Given the description of an element on the screen output the (x, y) to click on. 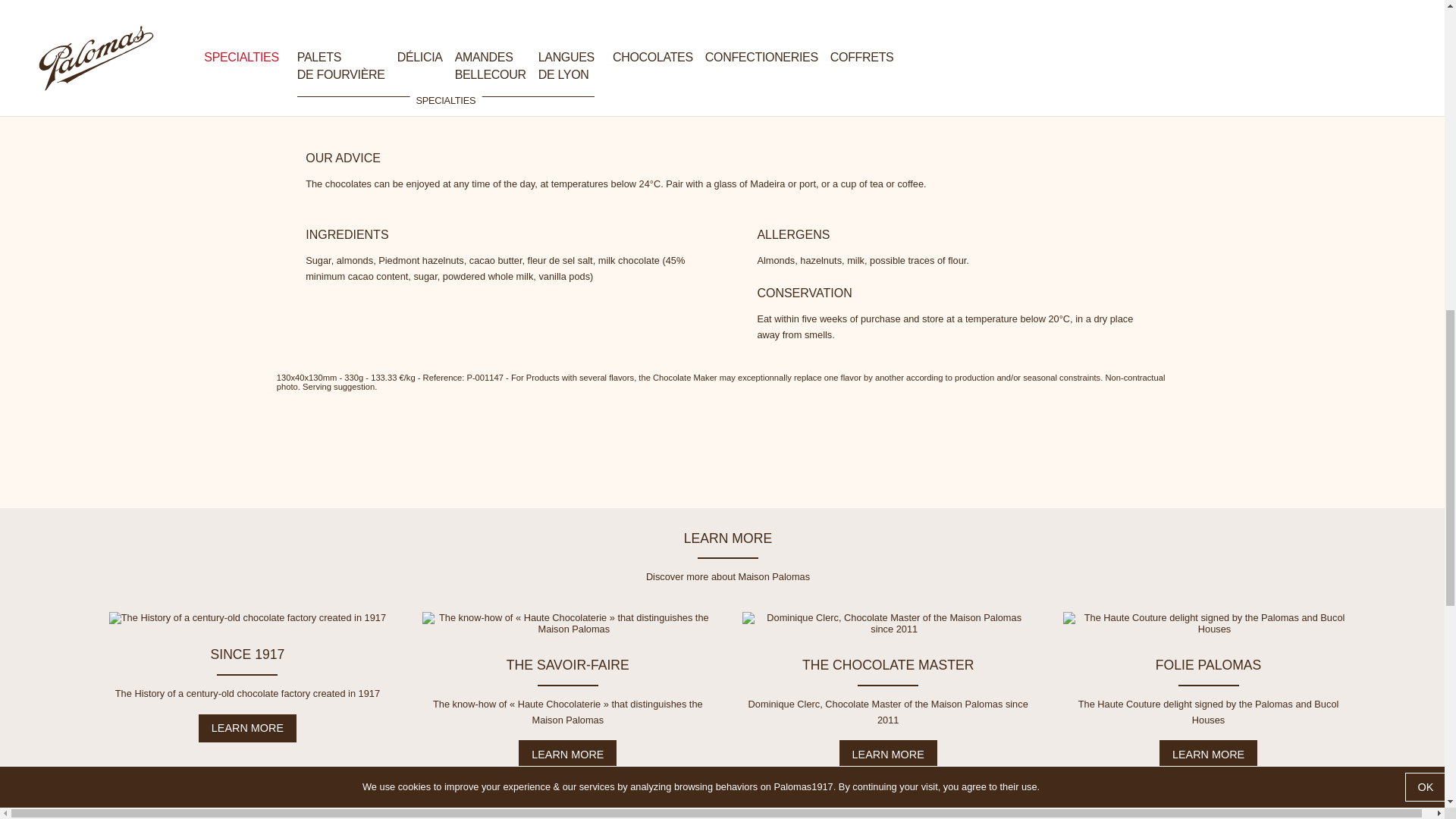
LEARN MORE (566, 754)
LEARN MORE (1207, 754)
LEARN MORE (888, 754)
LEARN MORE (247, 728)
